Given the description of an element on the screen output the (x, y) to click on. 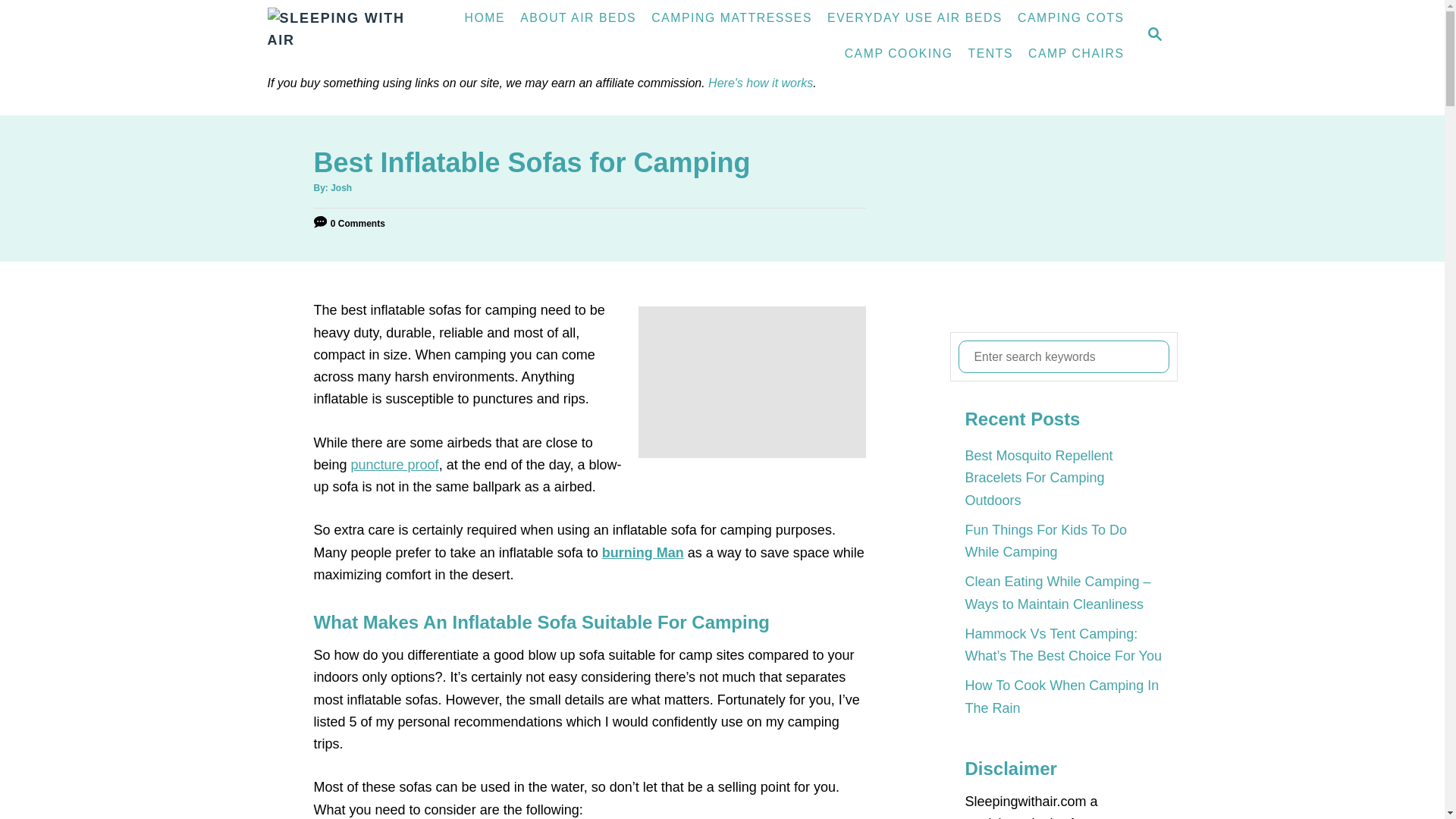
ABOUT AIR BEDS (577, 18)
Search for: (1063, 356)
Sleeping With Air (354, 36)
SEARCH (1153, 35)
CAMPING COTS (1071, 18)
CAMPING MATTRESSES (731, 18)
EVERYDAY USE AIR BEDS (914, 18)
HOME (485, 18)
CAMP COOKING (898, 53)
